Given the description of an element on the screen output the (x, y) to click on. 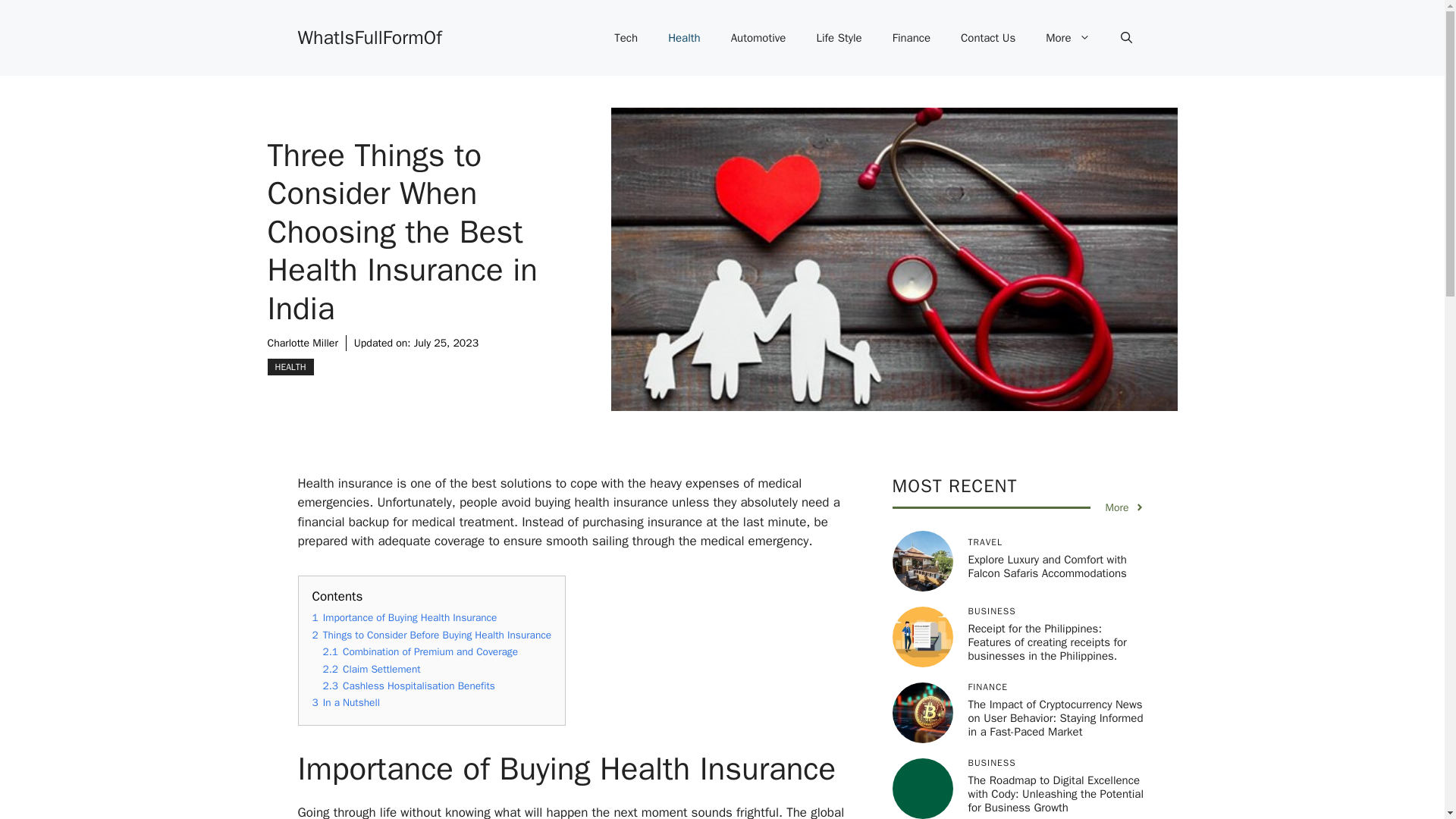
Health (684, 37)
Automotive (759, 37)
Charlotte Miller (301, 342)
Finance (910, 37)
Contact Us (987, 37)
HEALTH (289, 366)
2 Things to Consider Before Buying Health Insurance (432, 634)
2.2 Claim Settlement (371, 668)
2.1 Combination of Premium and Coverage (420, 651)
3 In a Nutshell (346, 702)
More (1067, 37)
Life Style (838, 37)
2.3 Cashless Hospitalisation Benefits (409, 685)
Tech (625, 37)
WhatIsFullFormOf (369, 37)
